Given the description of an element on the screen output the (x, y) to click on. 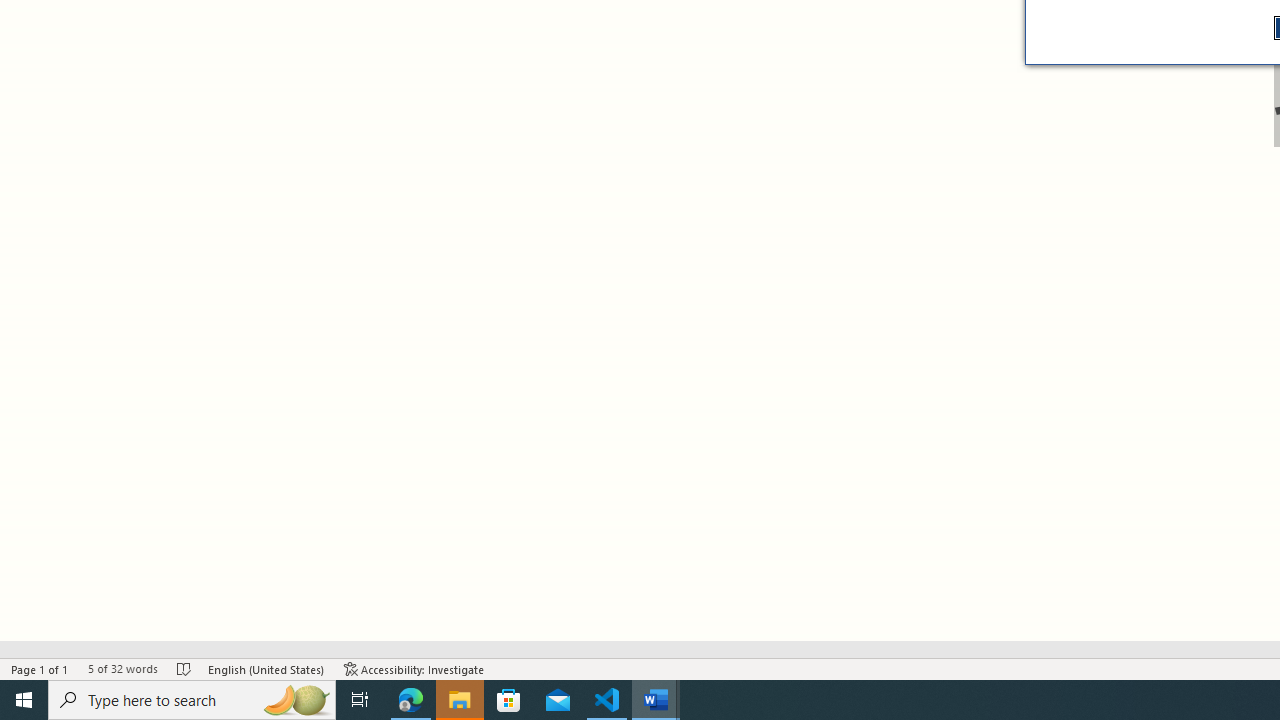
Accessibility Checker Accessibility: Investigate (413, 668)
Word - 2 running windows (656, 699)
Microsoft Edge - 1 running window (411, 699)
Language English (United States) (266, 668)
File Explorer - 1 running window (460, 699)
Search highlights icon opens search home window (295, 699)
Microsoft Store (509, 699)
Page Number Page 1 of 1 (39, 668)
Visual Studio Code - 1 running window (607, 699)
Spelling and Grammar Check No Errors (184, 668)
Type here to search (191, 699)
Word Count 5 of 32 words (122, 668)
Task View (359, 699)
Start (24, 699)
